Given the description of an element on the screen output the (x, y) to click on. 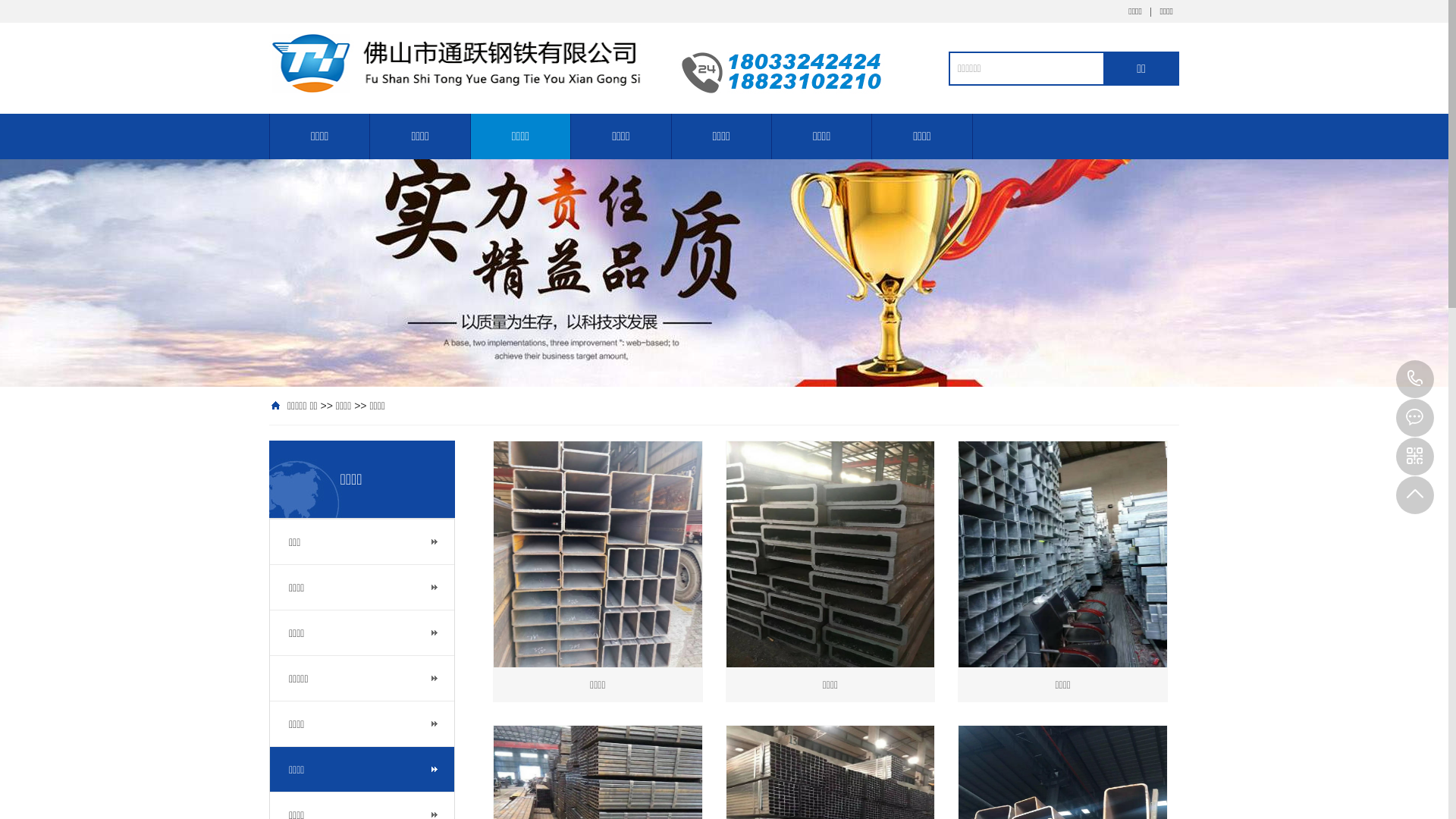
18033242424 Element type: text (1415, 379)
